Given the description of an element on the screen output the (x, y) to click on. 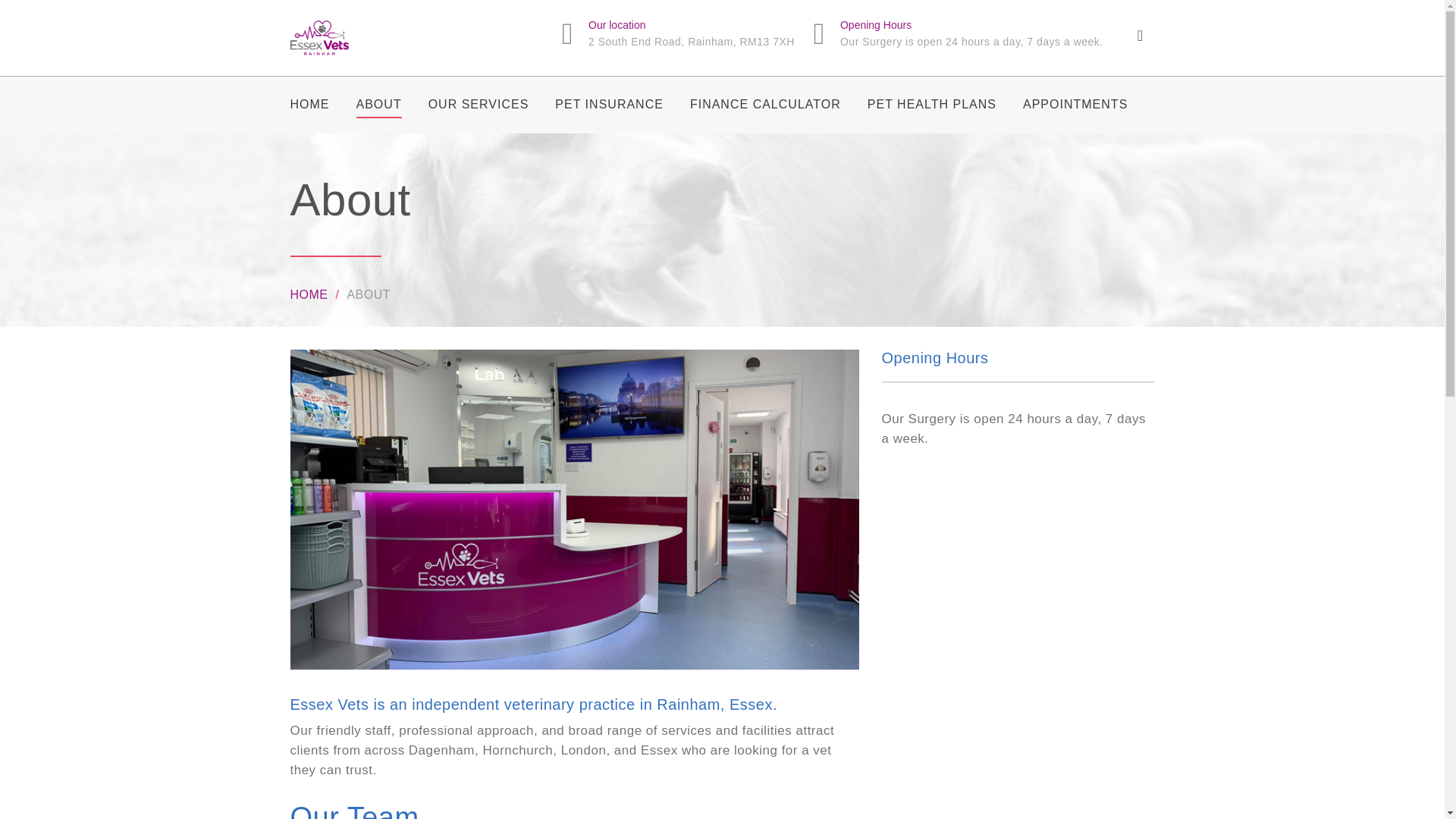
Essex Vets Rainham Veterinary Clinic (341, 37)
OUR SERVICES (478, 104)
PET INSURANCE (608, 104)
APPOINTMENTS (1074, 104)
PET HEALTH PLANS (931, 104)
ABOUT (378, 104)
HOME (309, 104)
FINANCE CALCULATOR (765, 104)
